Given the description of an element on the screen output the (x, y) to click on. 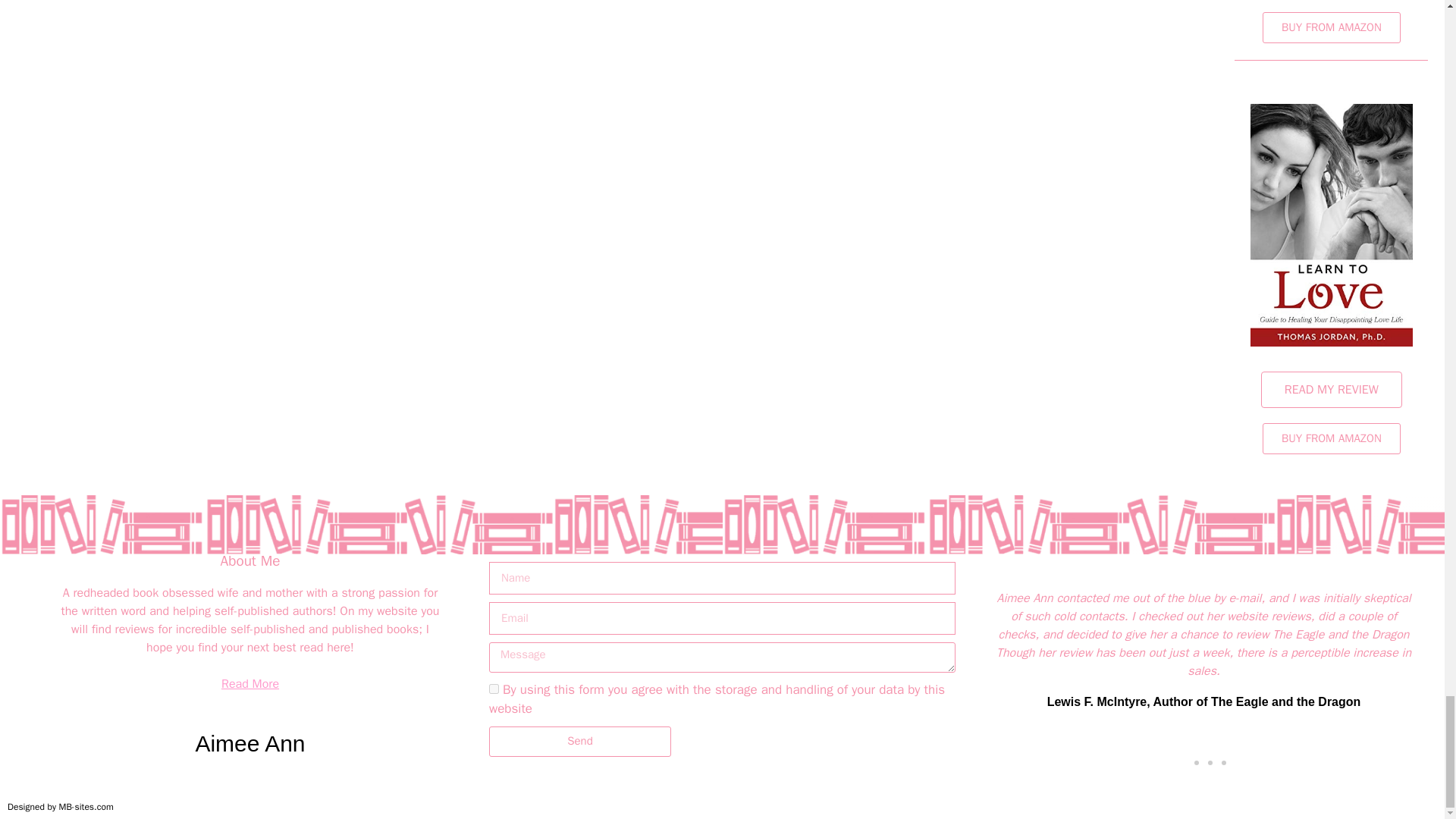
on (494, 688)
